Given the description of an element on the screen output the (x, y) to click on. 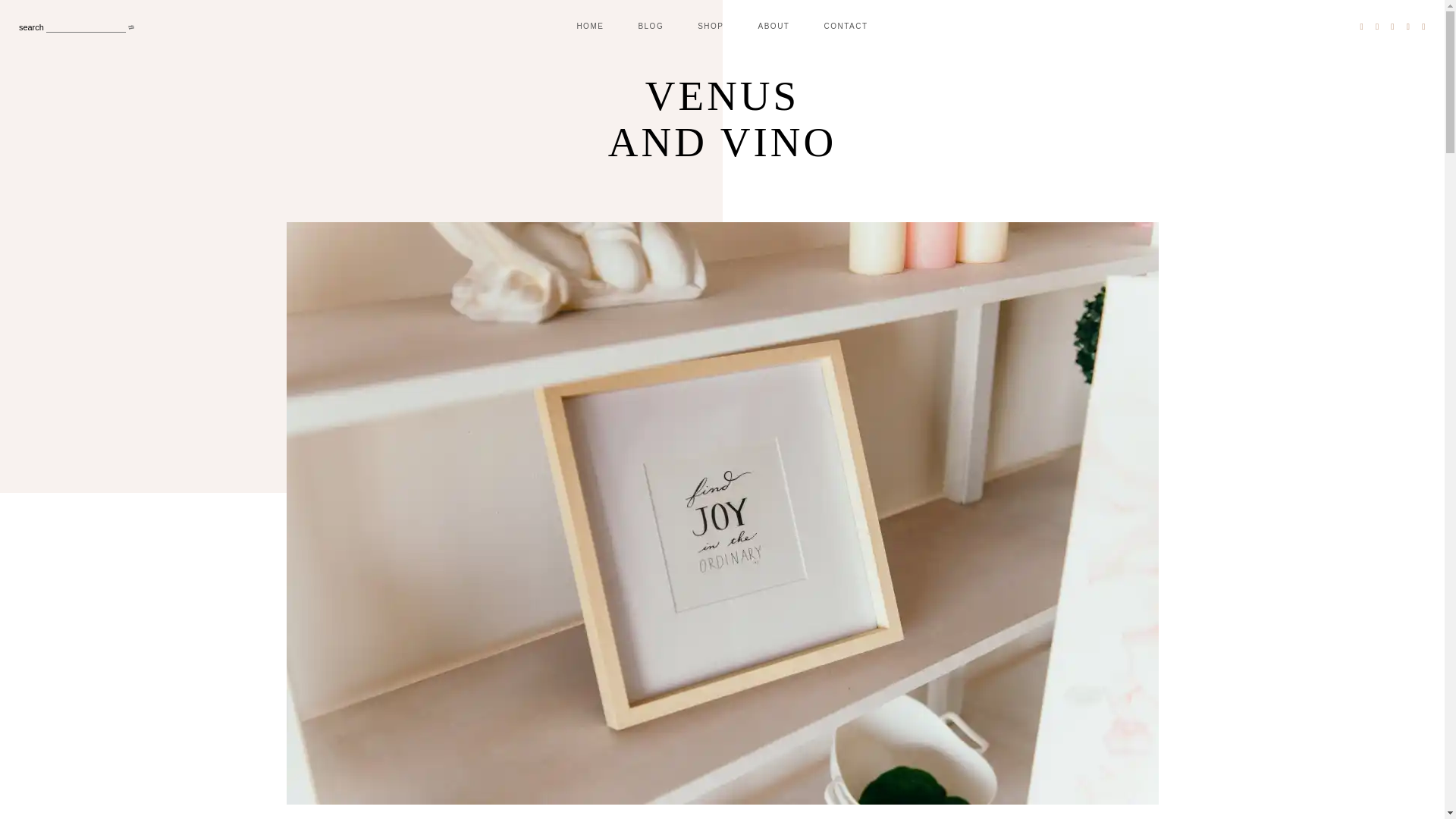
CONTACT (845, 26)
VENUS AND VINO (721, 133)
